Given the description of an element on the screen output the (x, y) to click on. 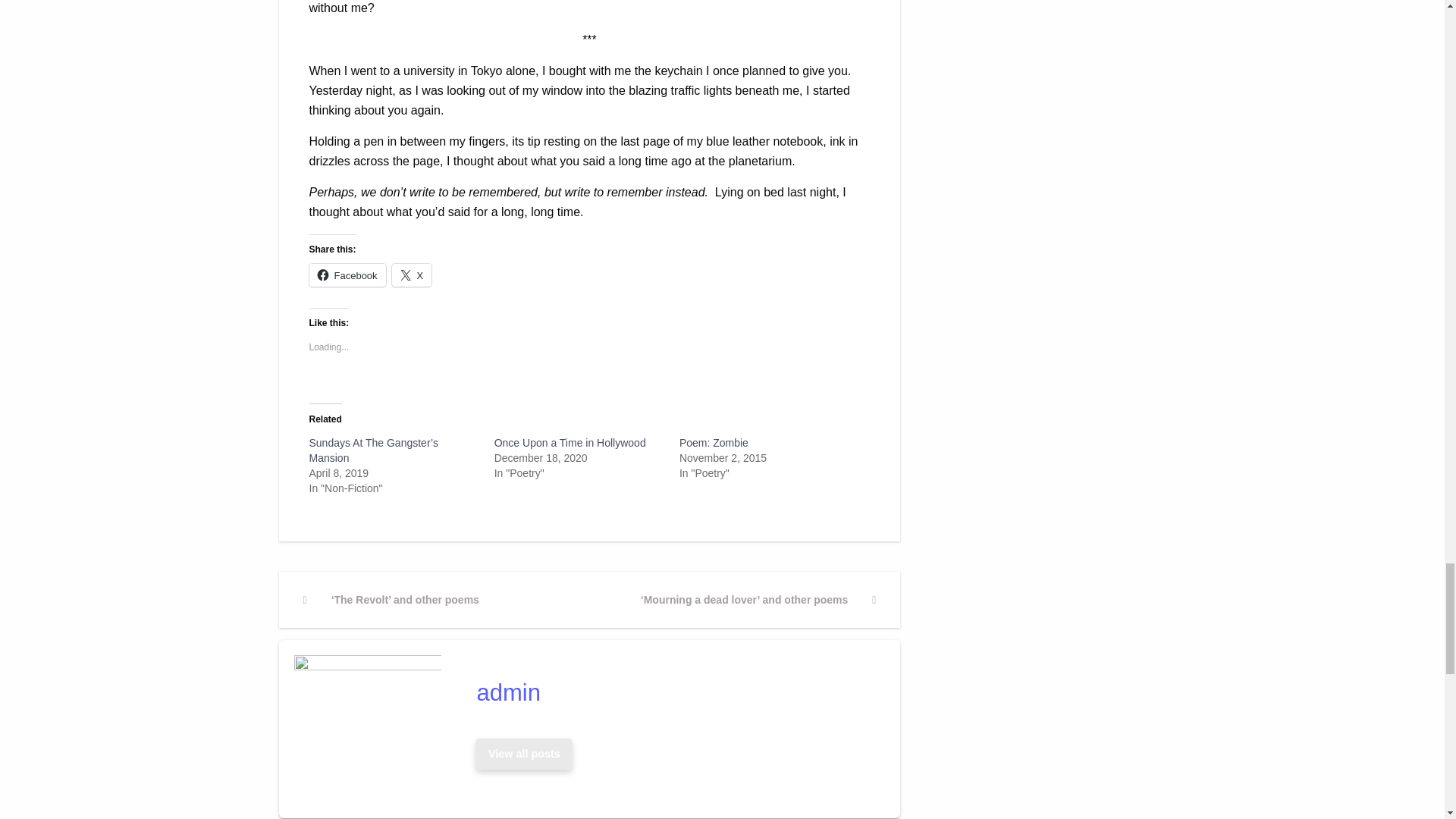
Poem: Zombie (713, 442)
Once Upon a Time in Hollywood (570, 442)
View all posts (523, 753)
Facebook (346, 274)
Poem: Zombie (713, 442)
admin (523, 753)
Once Upon a Time in Hollywood (570, 442)
X (411, 274)
Click to share on Facebook (346, 274)
View all posts (524, 753)
